Given the description of an element on the screen output the (x, y) to click on. 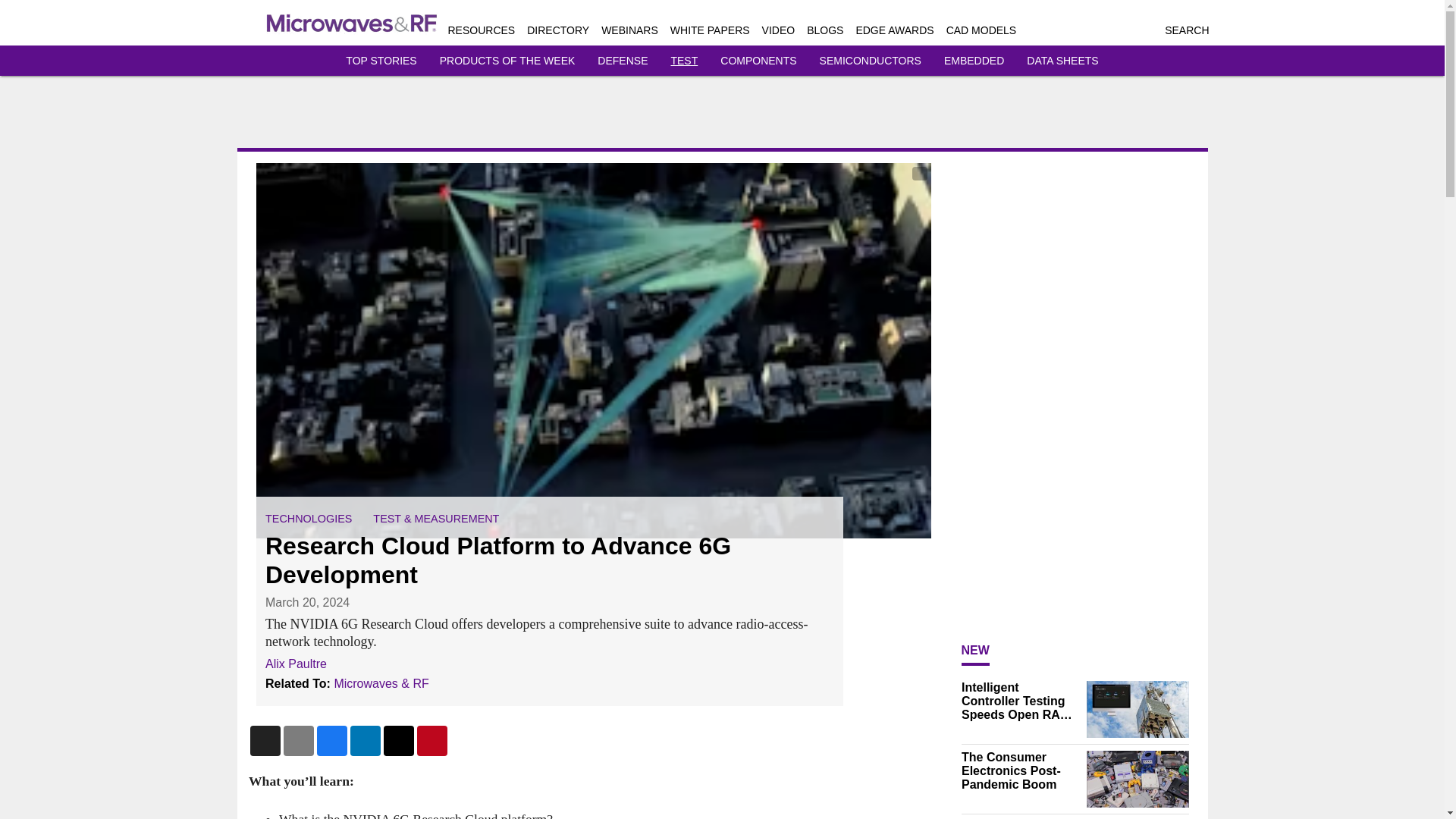
WEBINARS (629, 30)
Alix Paultre (295, 662)
TOP STORIES (381, 60)
DATA SHEETS (1061, 60)
WHITE PAPERS (709, 30)
EMBEDDED (973, 60)
PRODUCTS OF THE WEEK (507, 60)
SEMICONDUCTORS (870, 60)
DEFENSE (621, 60)
COMPONENTS (758, 60)
VIDEO (777, 30)
TEST (683, 60)
EDGE AWARDS (894, 30)
CAD MODELS (981, 30)
RESOURCES (480, 30)
